Given the description of an element on the screen output the (x, y) to click on. 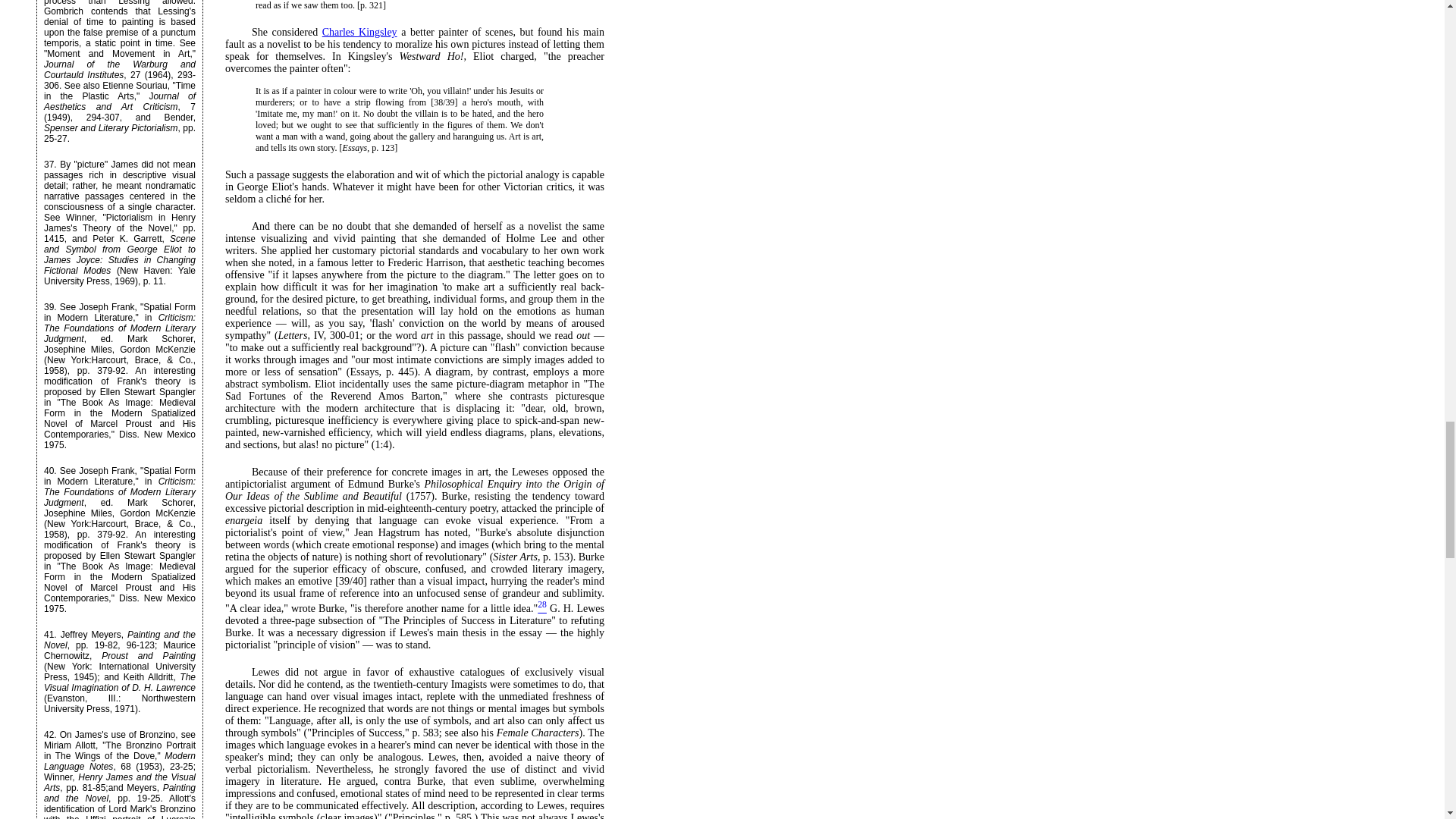
40 (48, 470)
37 (48, 163)
41 (48, 634)
39 (48, 307)
42 (48, 734)
